Given the description of an element on the screen output the (x, y) to click on. 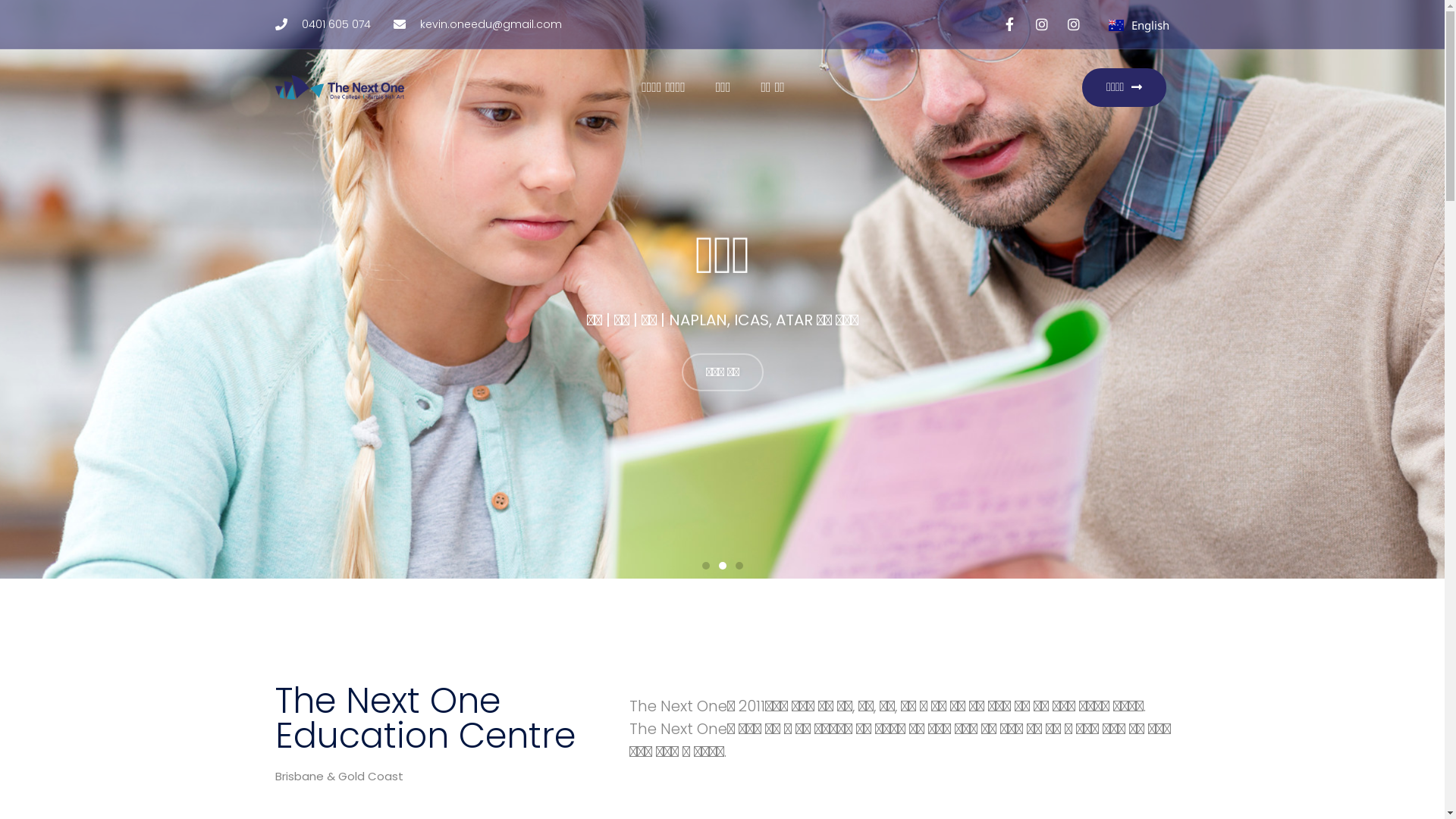
English Element type: text (1138, 24)
